Given the description of an element on the screen output the (x, y) to click on. 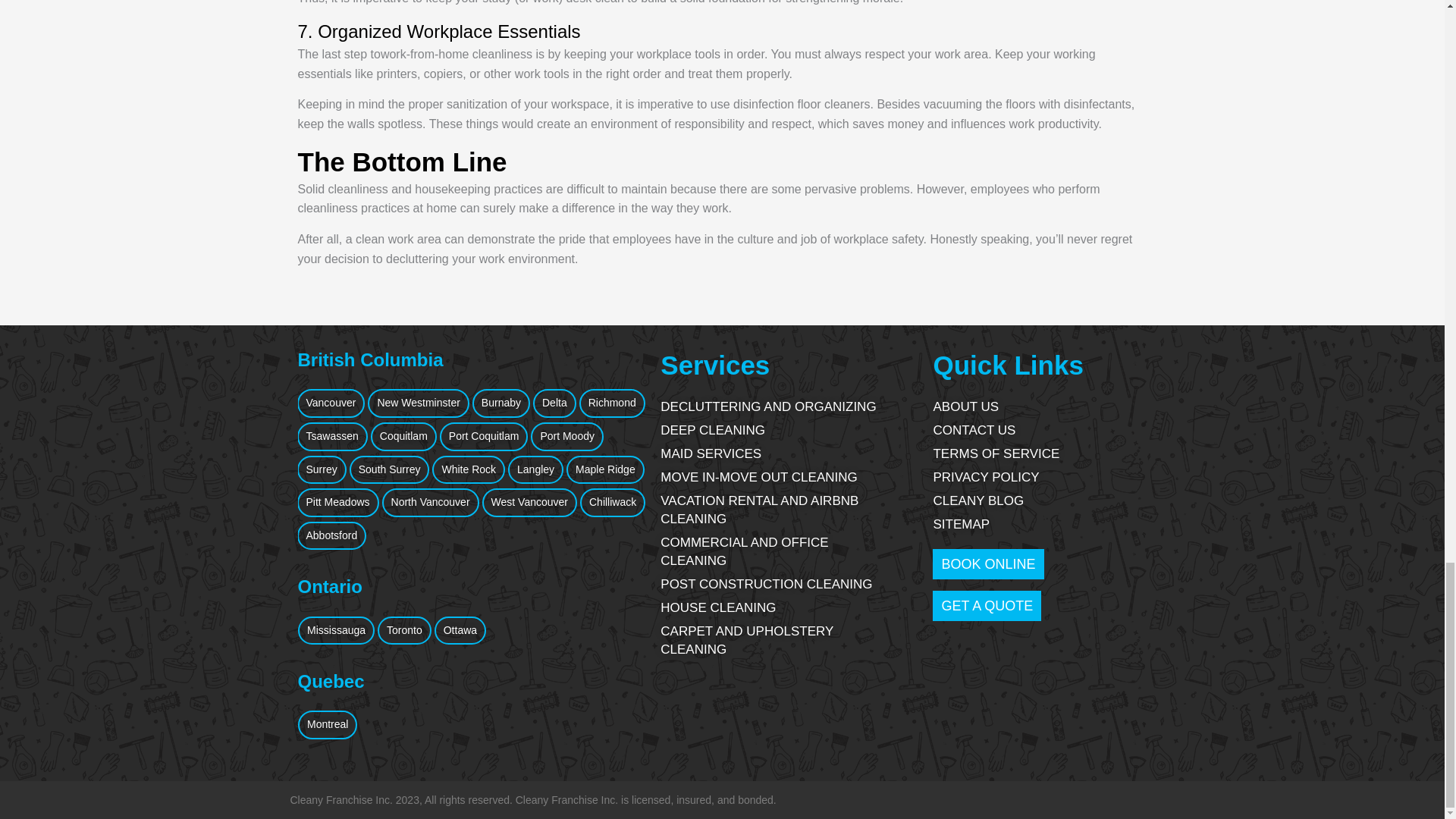
Vancouver (331, 403)
Langley (535, 469)
New Westminster (418, 403)
Surrey (321, 469)
Maple Ridge (605, 469)
Port Coquitlam (483, 436)
Delta (554, 403)
White Rock (468, 469)
Burnaby (500, 403)
South Surrey (389, 469)
